Given the description of an element on the screen output the (x, y) to click on. 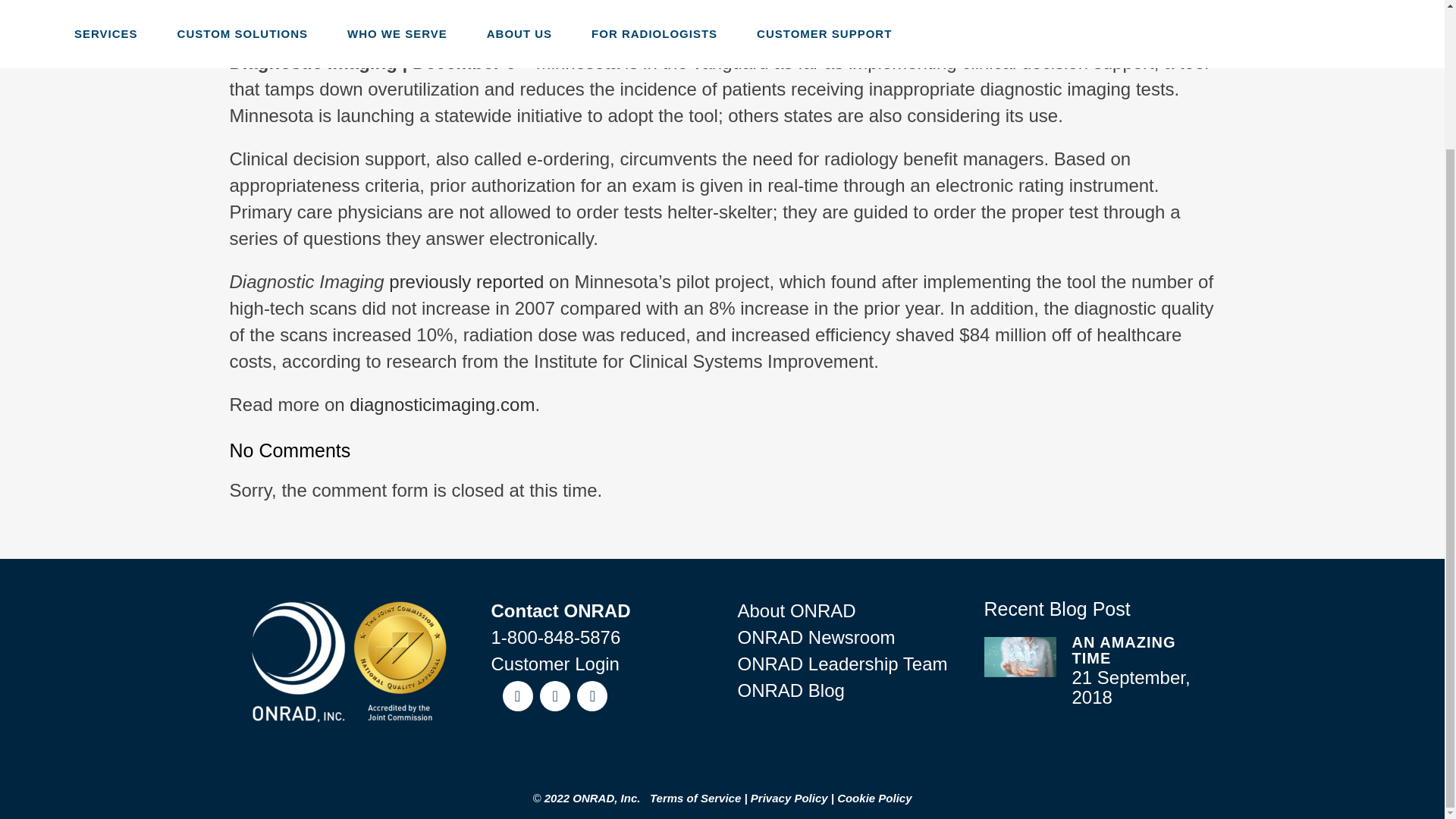
Like this (364, 25)
